Given the description of an element on the screen output the (x, y) to click on. 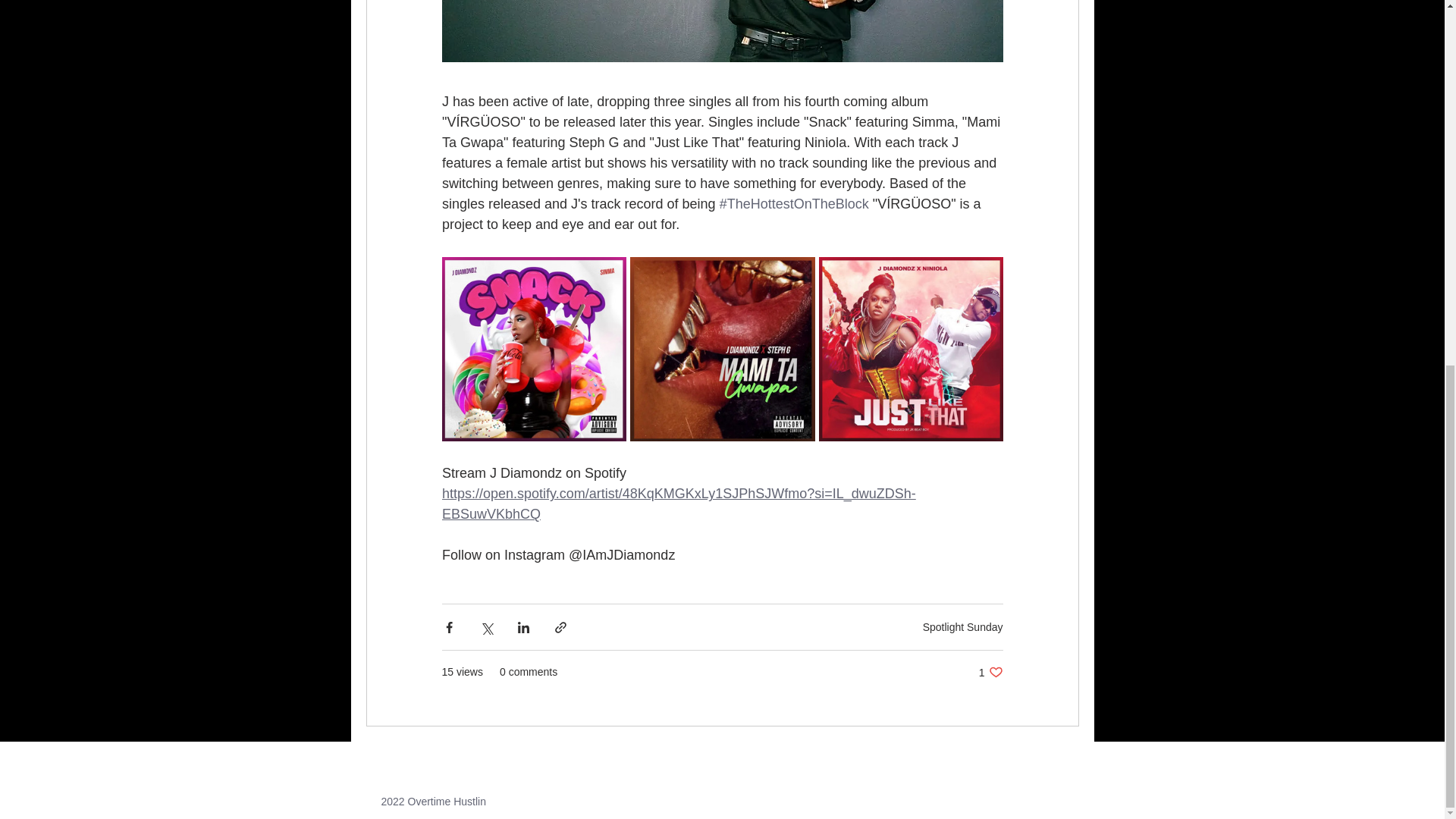
Spotlight Sunday (963, 626)
